Given the description of an element on the screen output the (x, y) to click on. 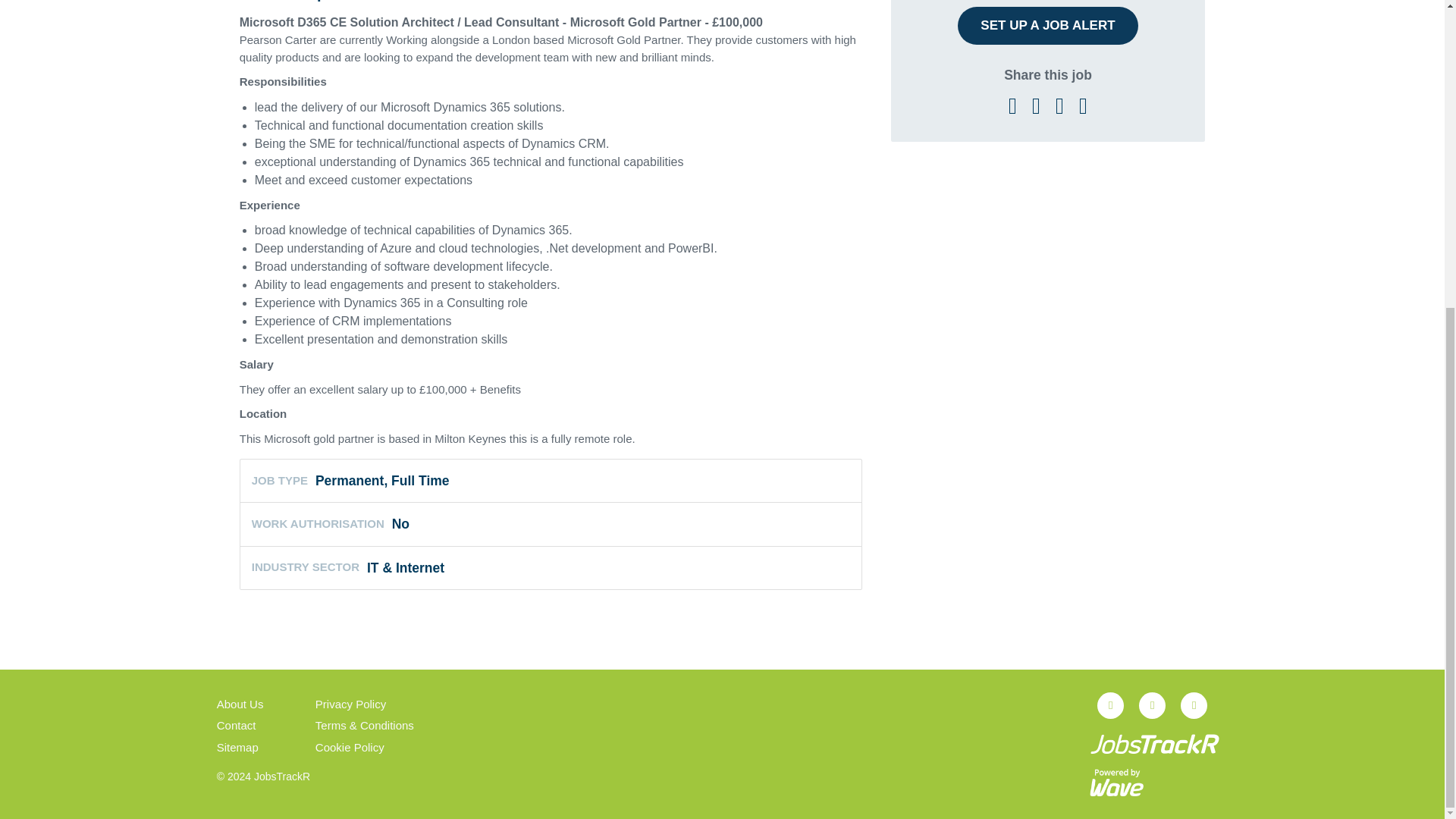
Sitemap (237, 748)
SET UP A JOB ALERT (1047, 25)
Privacy Policy (350, 705)
About Us (239, 705)
Contact (236, 726)
Cookie Policy (349, 748)
